Given the description of an element on the screen output the (x, y) to click on. 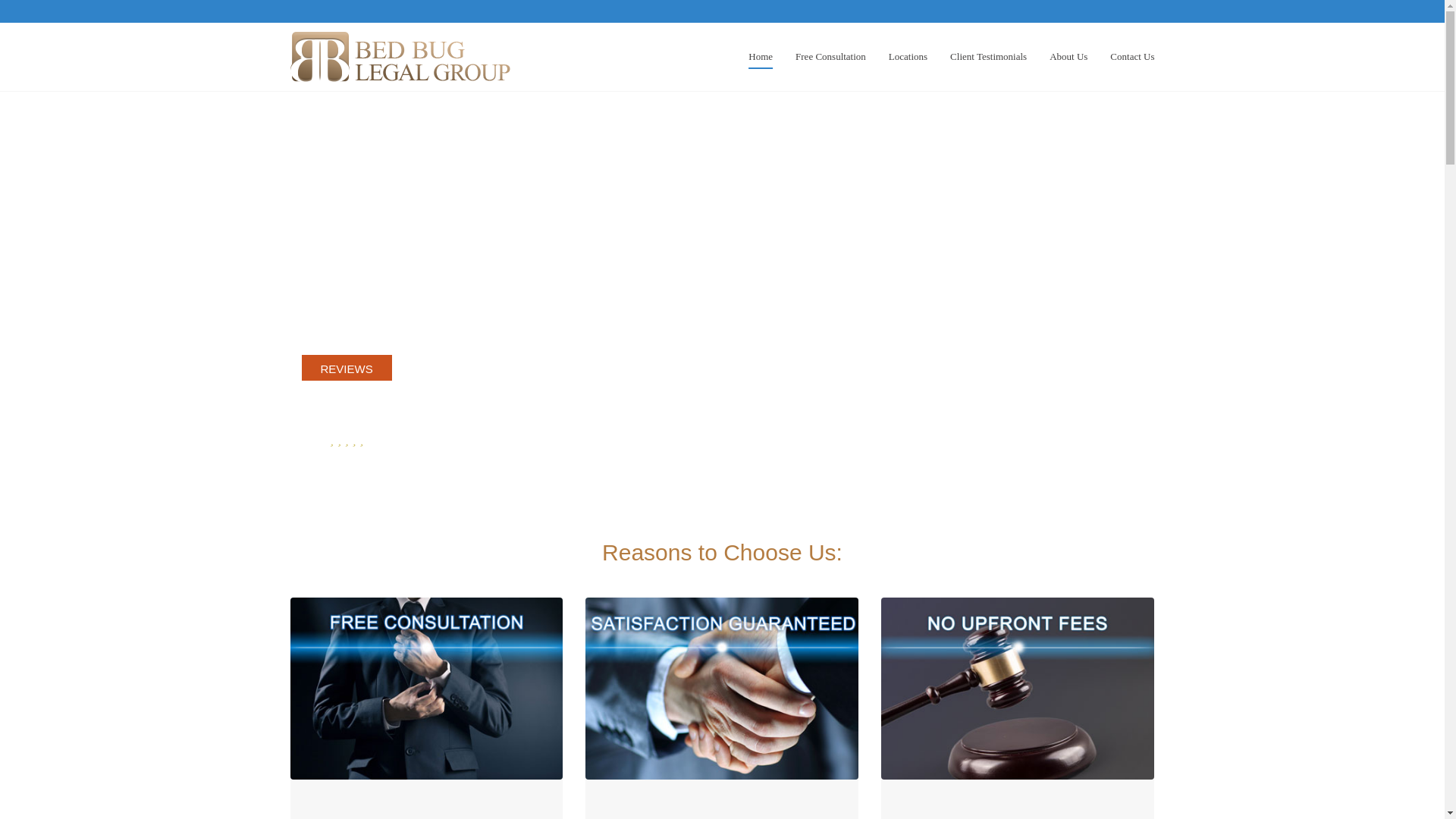
Free Consultation (830, 45)
REVIEWS (346, 368)
Read our reviews (346, 462)
Contact Us (1131, 45)
Client Testimonials (988, 45)
READ REVIEW (346, 462)
